Given the description of an element on the screen output the (x, y) to click on. 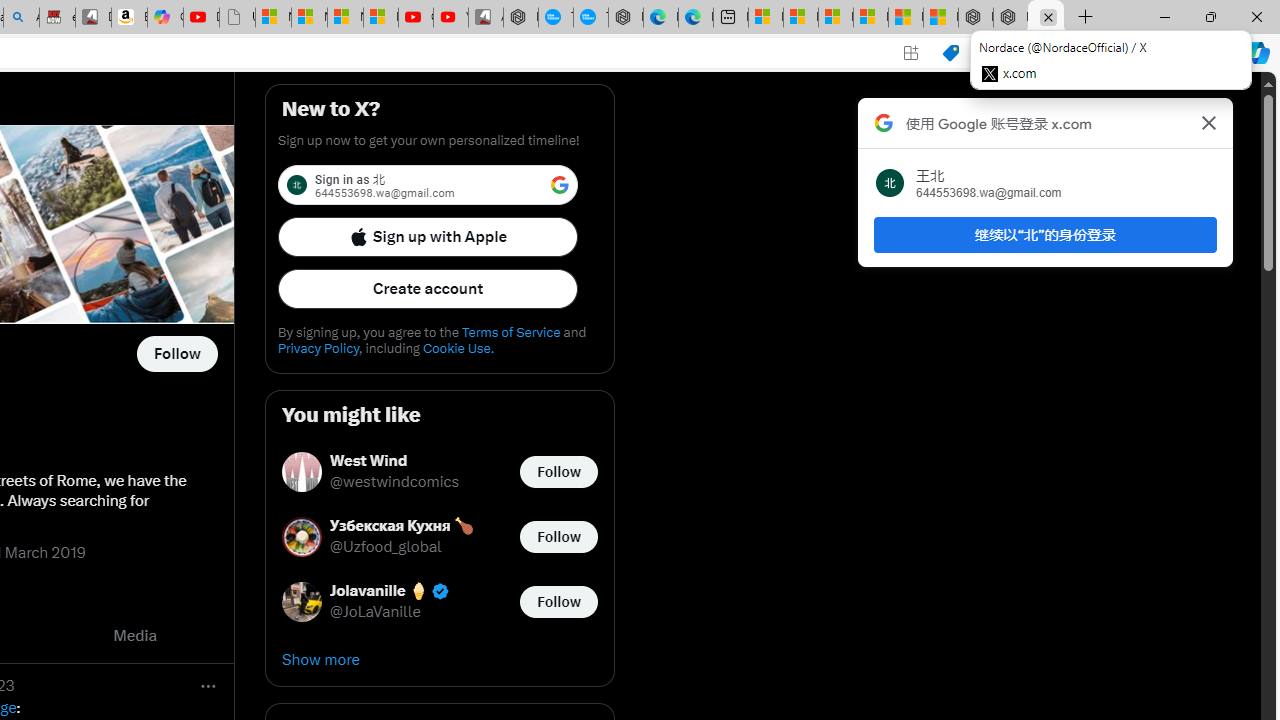
Microsoft account | Privacy (870, 17)
YouTube Kids - An App Created for Kids to Explore Content (450, 17)
Day 1: Arriving in Yemen (surreal to be here) - YouTube (201, 17)
Gloom - YouTube (415, 17)
Read aloud this page (Ctrl+Shift+U) (991, 53)
Nordace - Nordace has arrived Hong Kong (625, 17)
Follow @JoLaVanille (558, 600)
